Given the description of an element on the screen output the (x, y) to click on. 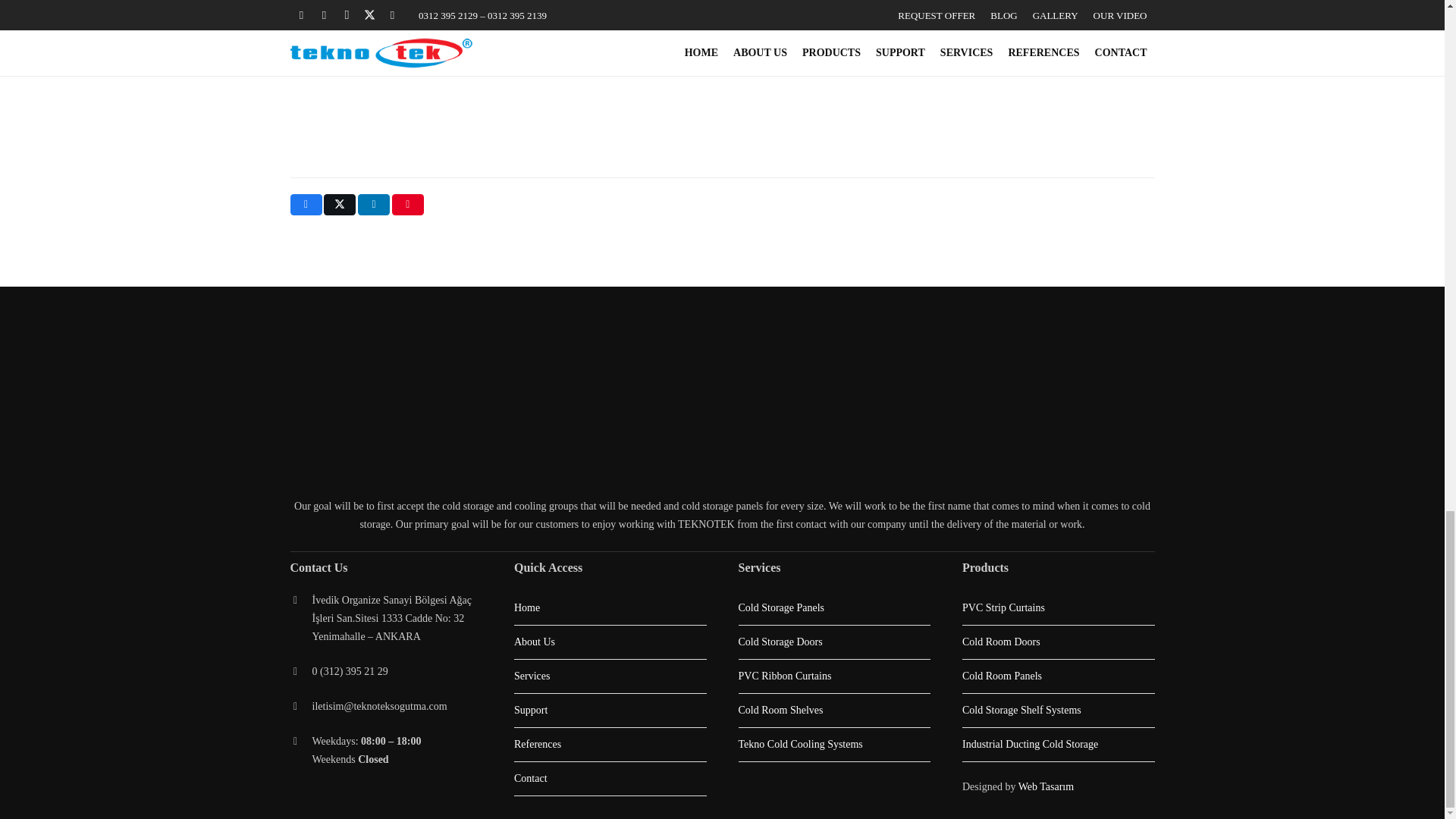
Cold Storage Doors (834, 642)
Home (609, 607)
References (609, 744)
PVC Ribbon Curtains (834, 676)
Tweet this (339, 204)
Contact (609, 778)
Cold Room Doors (1058, 642)
Share this (305, 204)
PVC Strip Curtains (1058, 607)
Cold Storage Panels (834, 607)
Tekno Cold Cooling Systems (834, 744)
Support (609, 710)
About Us (609, 642)
Cold Room Shelves (834, 710)
Share this (374, 204)
